Given the description of an element on the screen output the (x, y) to click on. 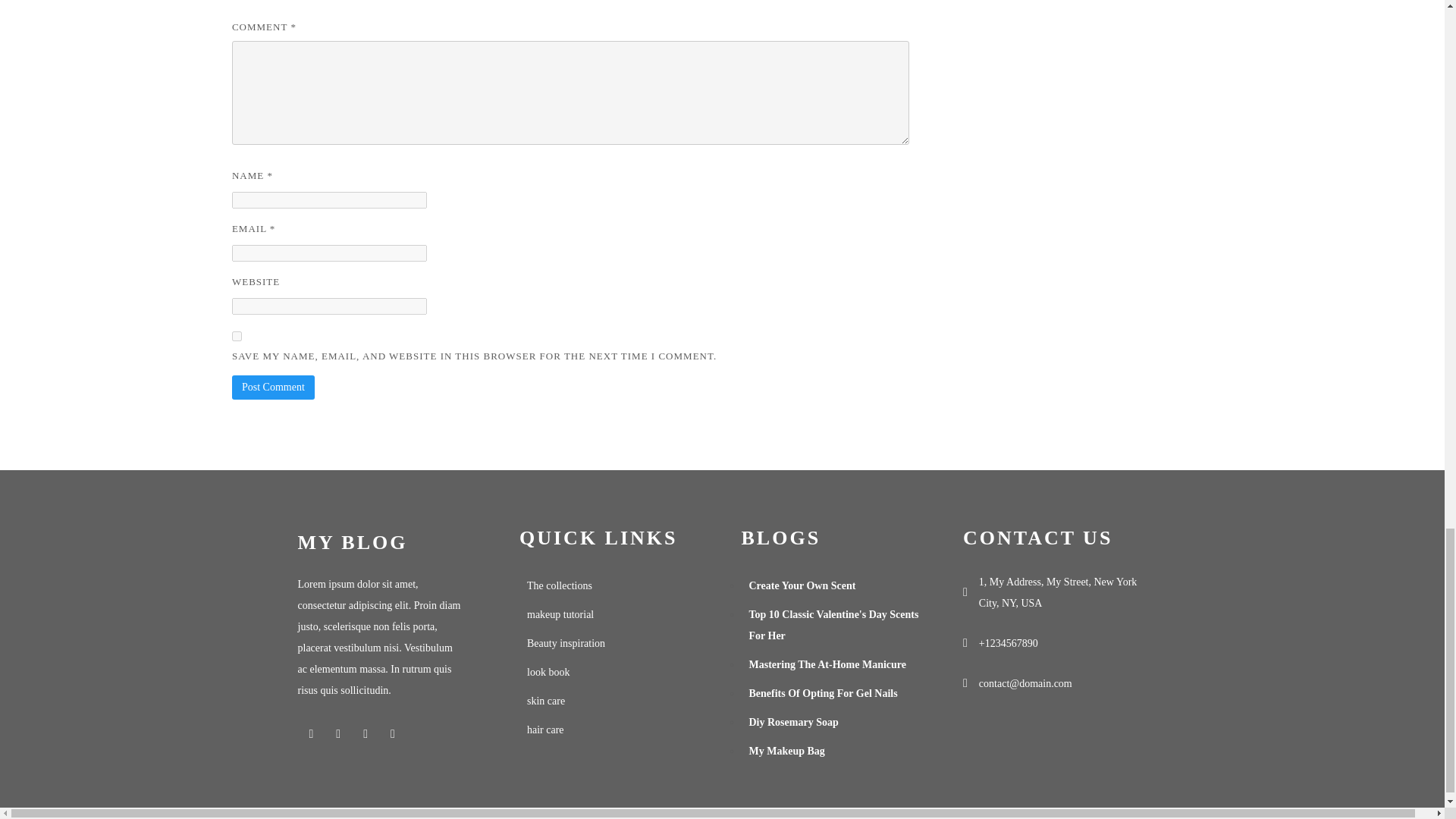
Diy Rosemary Soap (833, 722)
yes (236, 336)
My Makeup Bag (833, 751)
Post Comment (272, 387)
Mastering The At-Home Manicure (833, 664)
Benefits Of Opting For Gel Nails (833, 693)
MY BLOG (389, 542)
Create Your Own Scent (833, 585)
Top 10 Classic Valentine'S Day Scents For Her (833, 625)
Post Comment (272, 387)
